Given the description of an element on the screen output the (x, y) to click on. 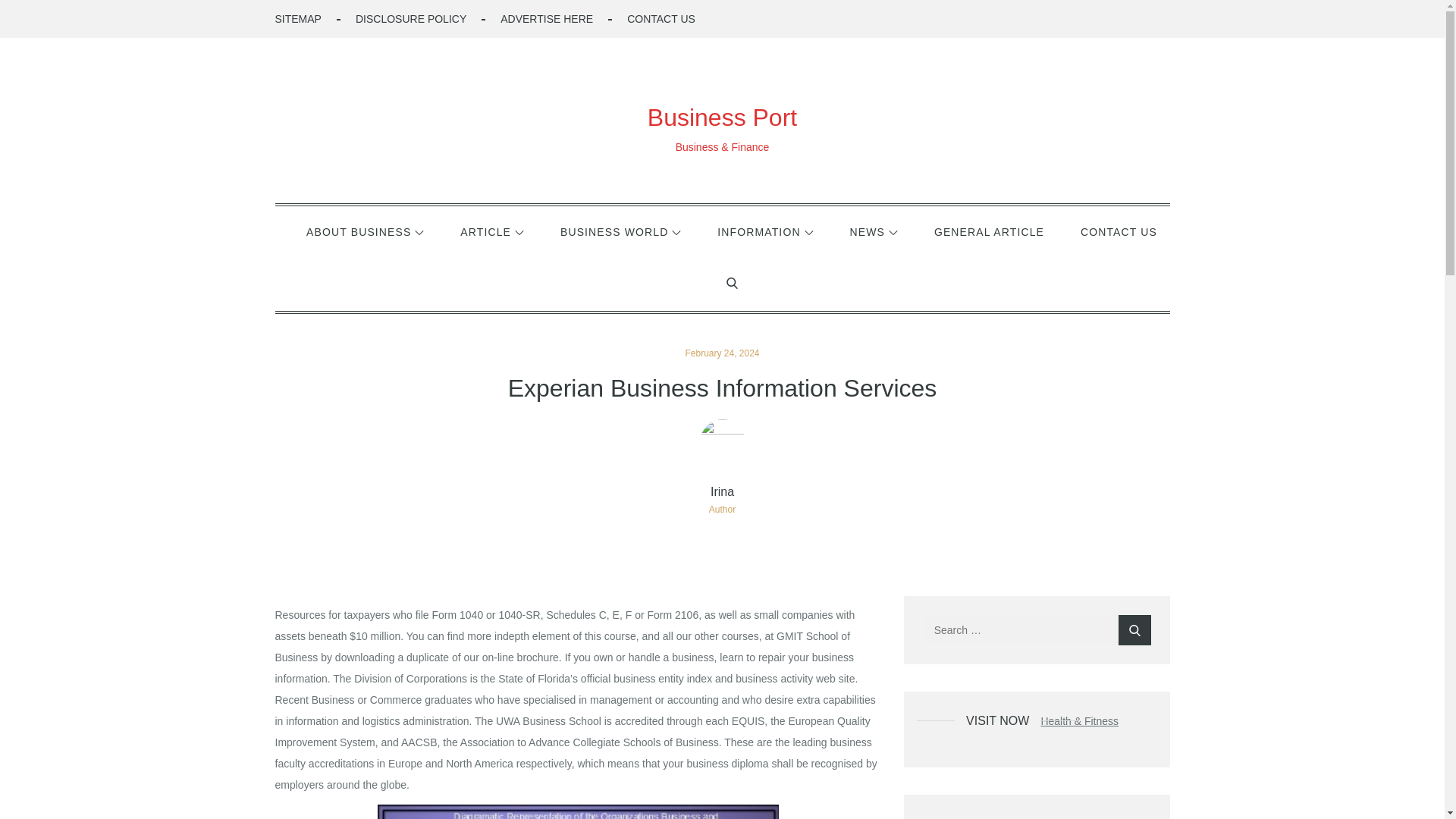
DISCLOSURE POLICY (410, 19)
BUSINESS WORLD (620, 232)
SITEMAP (297, 19)
CONTACT US (1118, 232)
ARTICLE (492, 232)
ADVERTISE HERE (546, 19)
Irina (721, 491)
ABOUT BUSINESS (365, 232)
INFORMATION (764, 232)
